Given the description of an element on the screen output the (x, y) to click on. 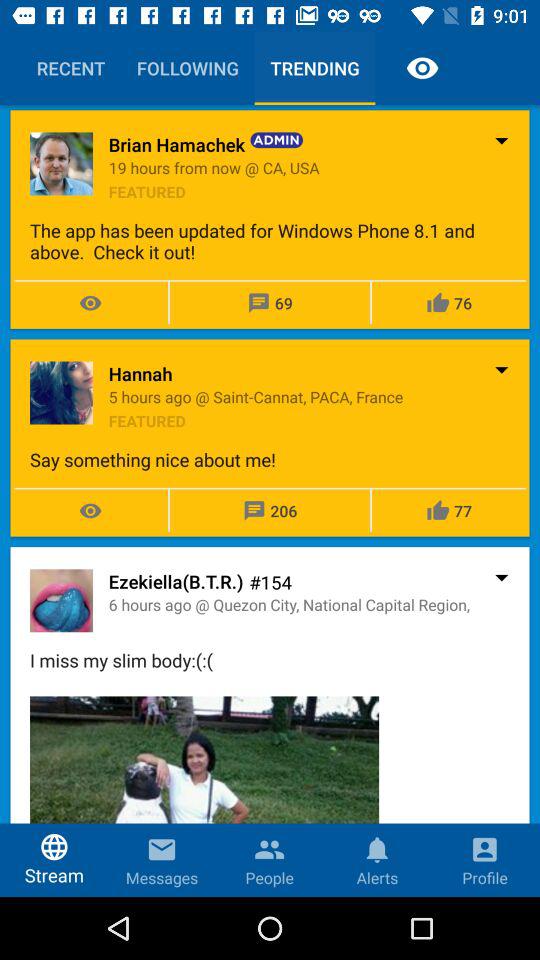
tap the the app has (269, 241)
